Given the description of an element on the screen output the (x, y) to click on. 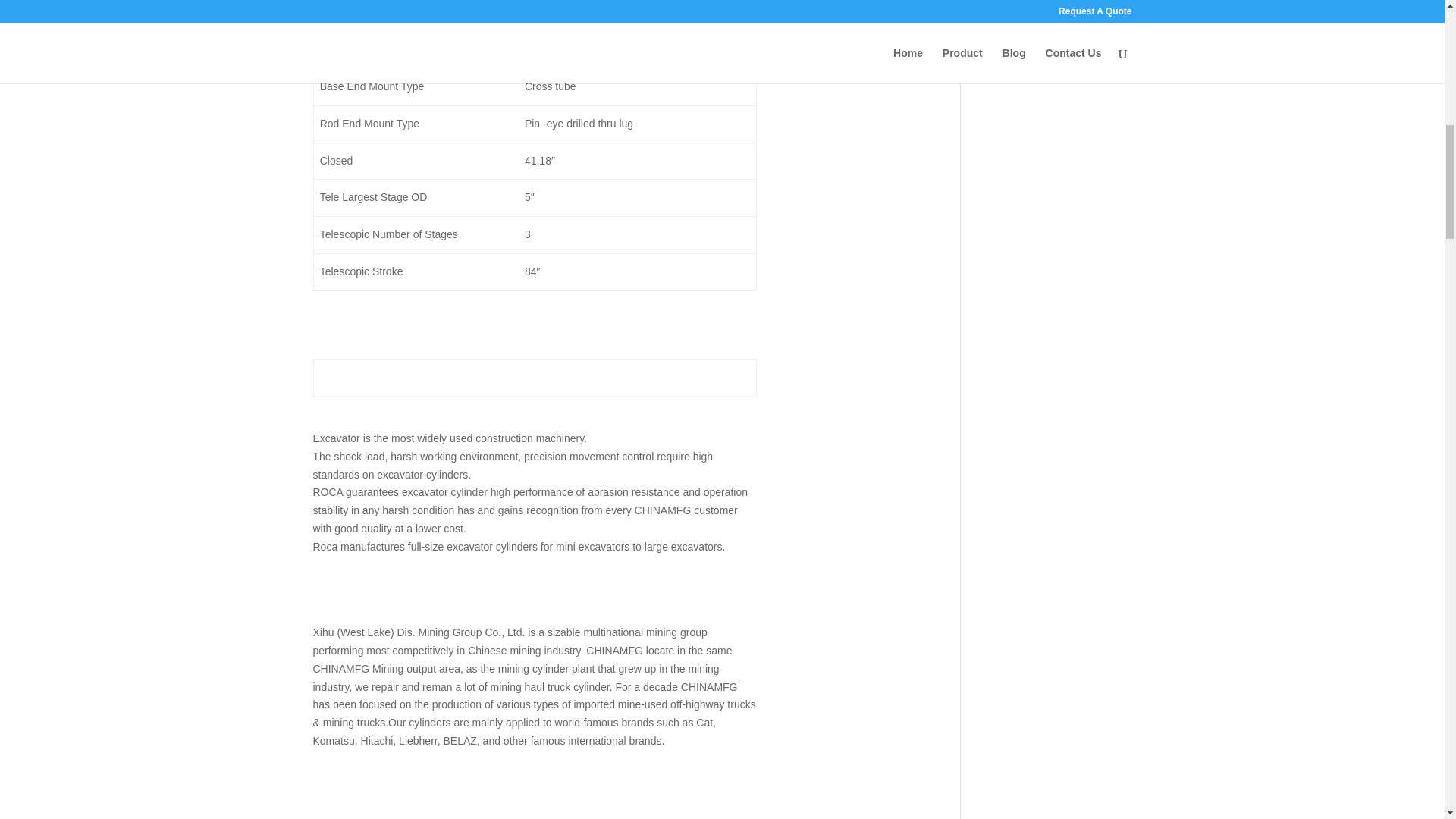
A WordPress Commenter (1043, 50)
Hello world! (1011, 69)
